Given the description of an element on the screen output the (x, y) to click on. 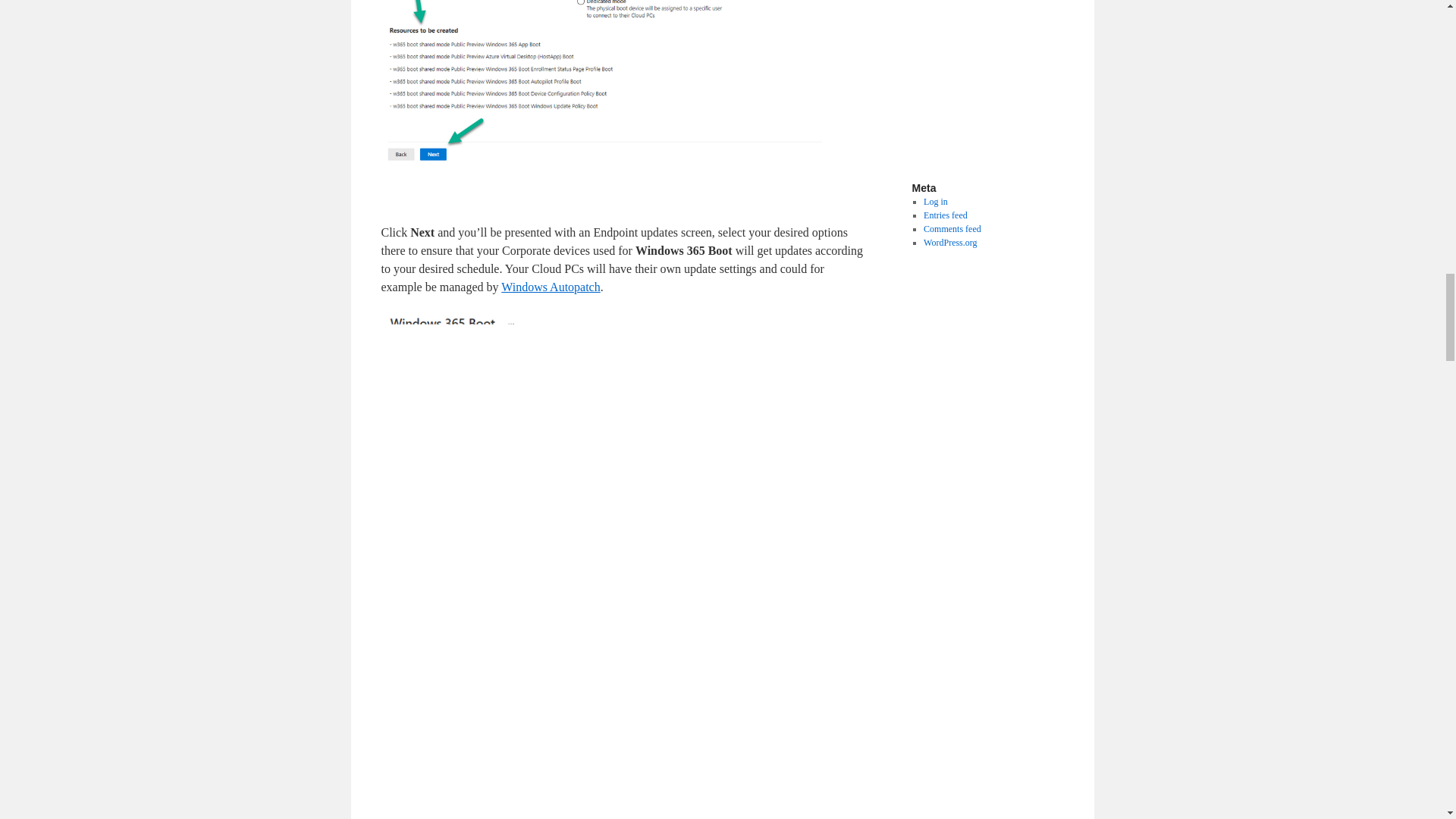
Advertisement (1038, 81)
Windows Autopatch (549, 286)
